Given the description of an element on the screen output the (x, y) to click on. 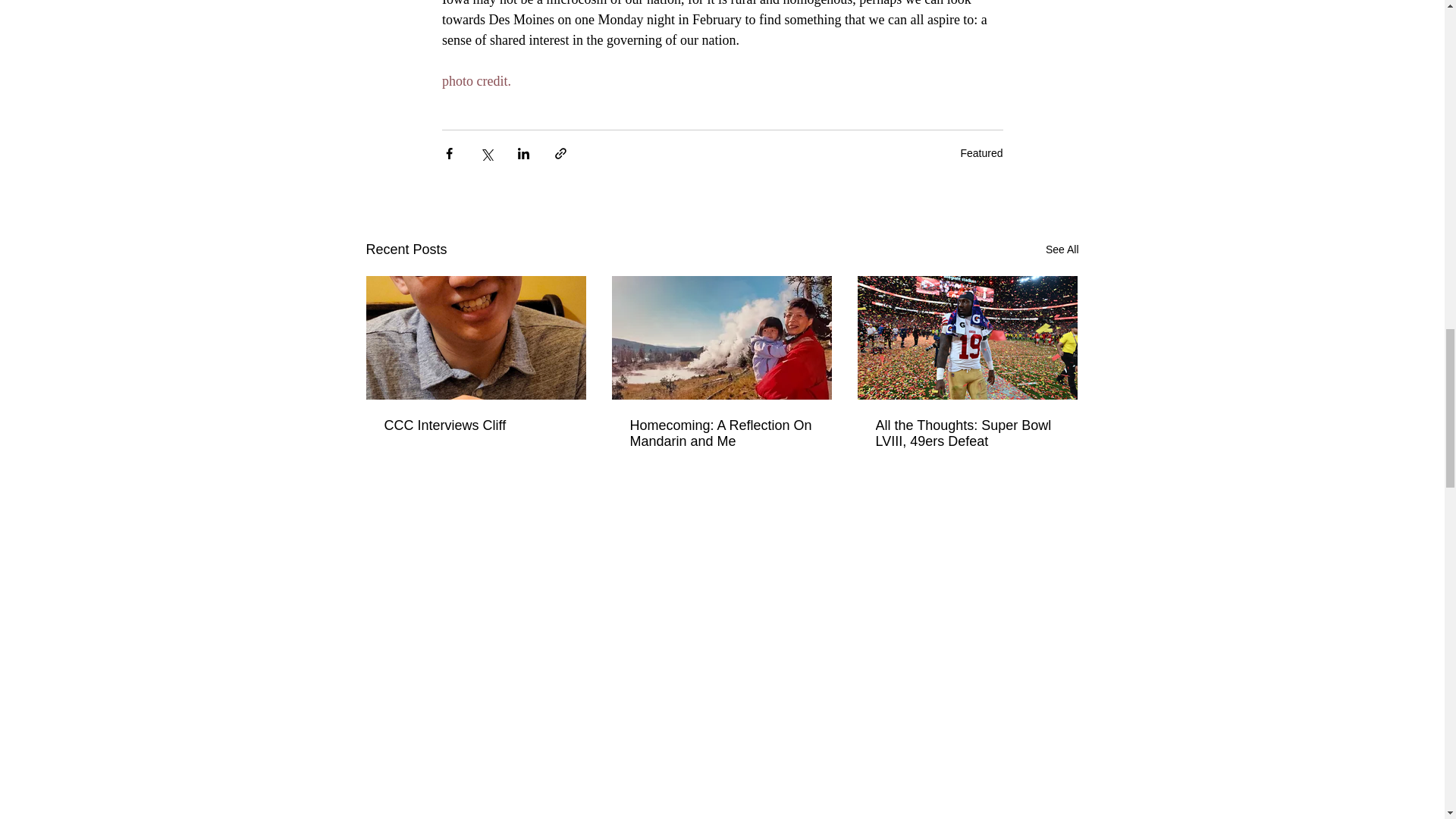
Homecoming: A Reflection On Mandarin and Me (720, 433)
CCC Interviews Cliff (475, 425)
Featured (981, 152)
See All (1061, 250)
All the Thoughts: Super Bowl LVIII, 49ers Defeat (966, 433)
photo credit. (476, 80)
